Given the description of an element on the screen output the (x, y) to click on. 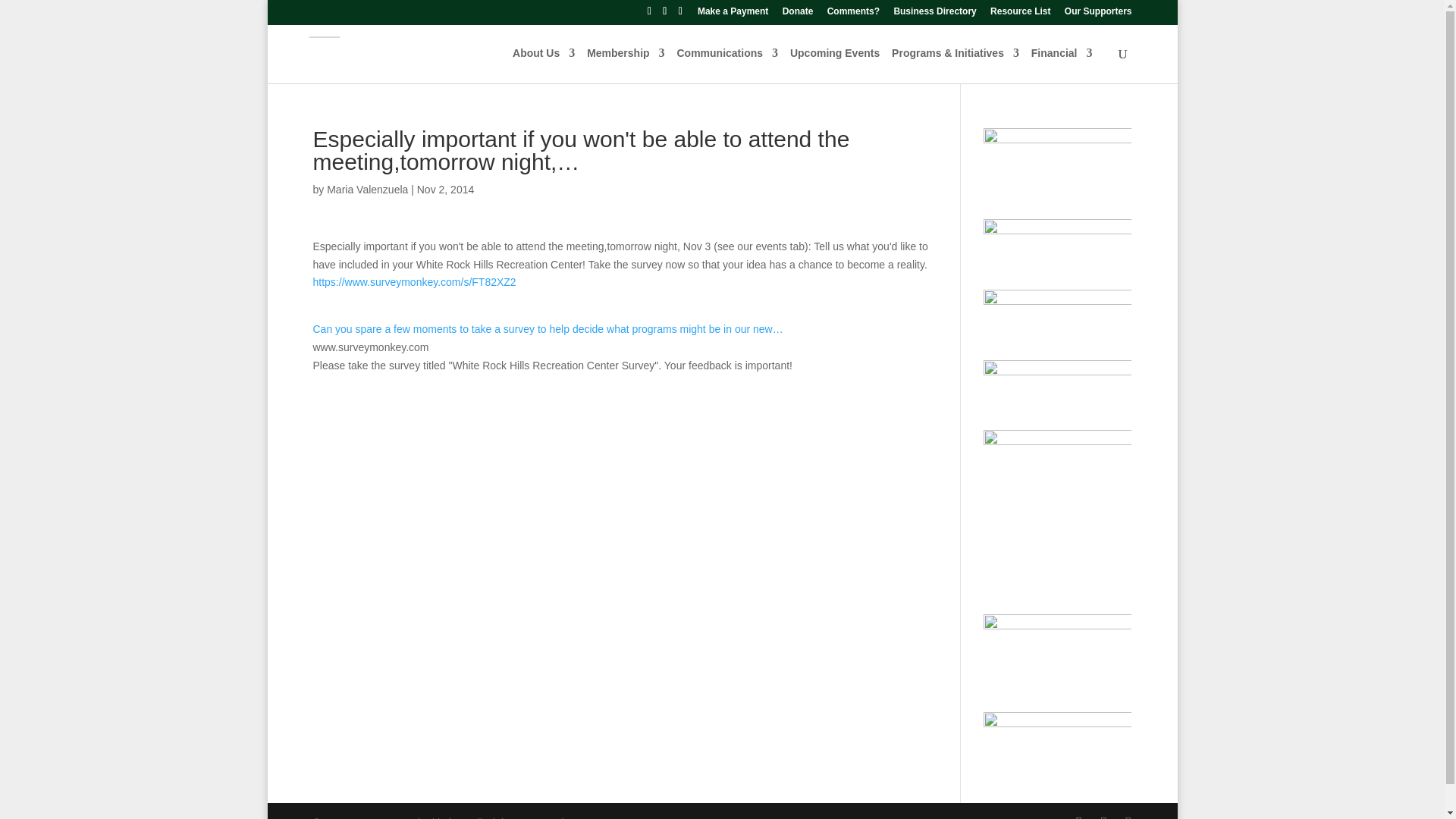
Membership (624, 65)
About Us (543, 65)
Business Directory (934, 14)
Resource List (1019, 14)
Communications (727, 65)
Upcoming Events (834, 65)
Comments? (853, 14)
Make a Payment (732, 14)
Donate (798, 14)
Posts by Maria Valenzuela (366, 189)
Our Supporters (1098, 14)
